Given the description of an element on the screen output the (x, y) to click on. 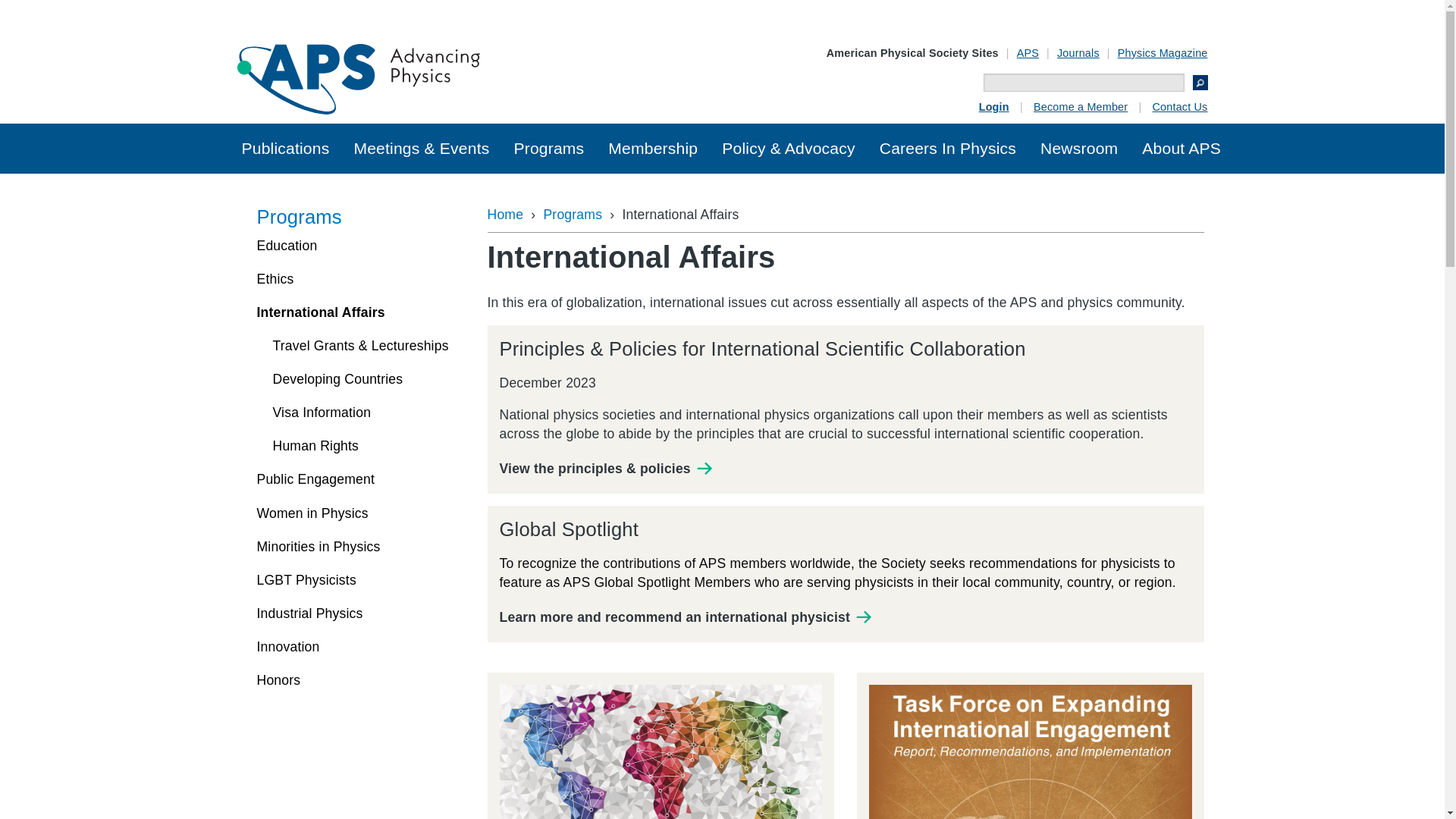
Task Force (1030, 751)
Journals (1078, 52)
Become a Member (1079, 106)
Publications (284, 148)
search query (1084, 82)
Programs (547, 148)
continents connected image (660, 751)
Login (993, 106)
APS (1027, 52)
Physics Magazine (1163, 52)
